Given the description of an element on the screen output the (x, y) to click on. 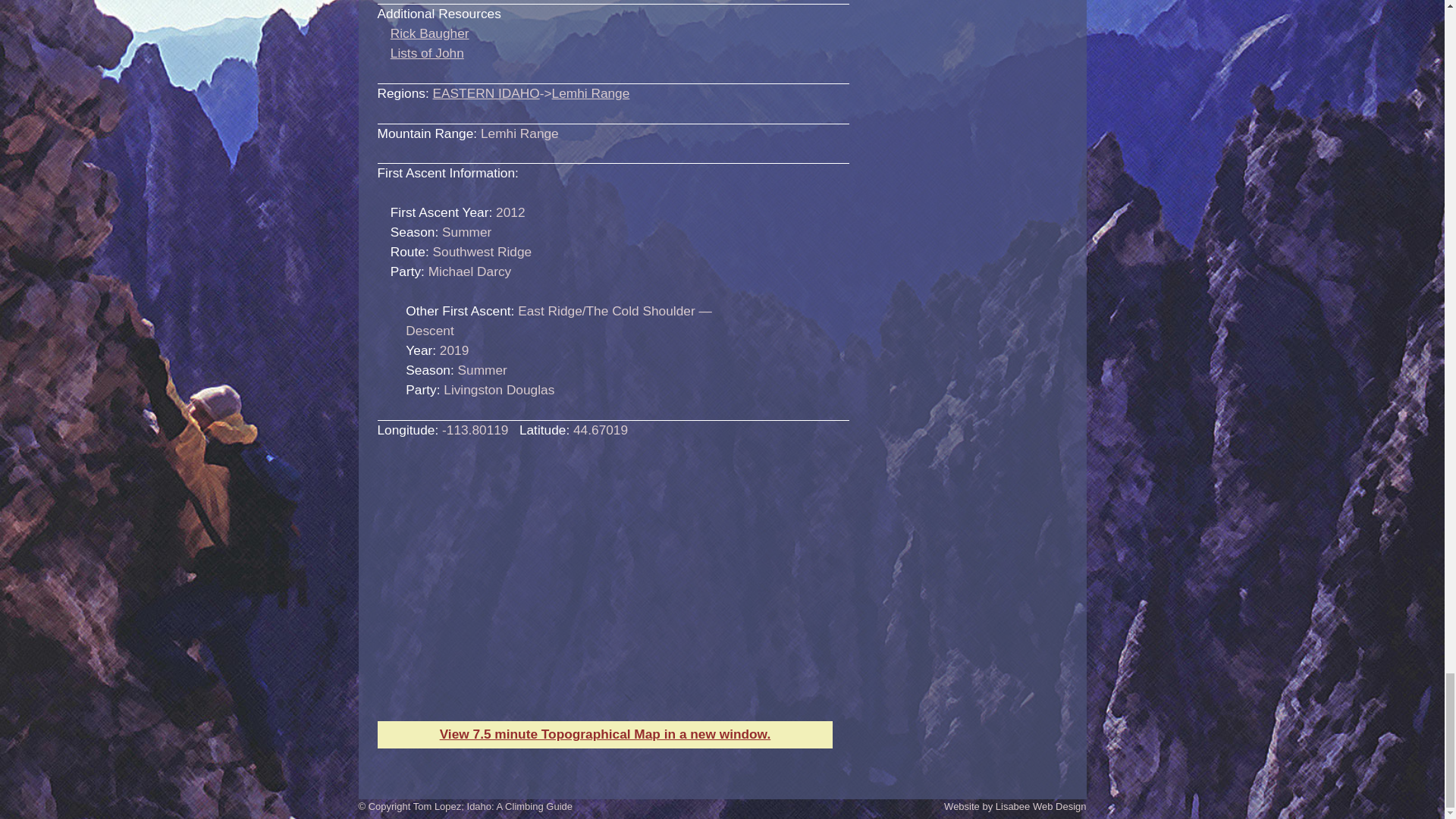
Rick Baugher (429, 32)
EASTERN IDAHO (486, 92)
Lists of John (427, 52)
Lemhi Range (590, 92)
View 7.5 minute Topographical Map in a new window. (605, 734)
